Given the description of an element on the screen output the (x, y) to click on. 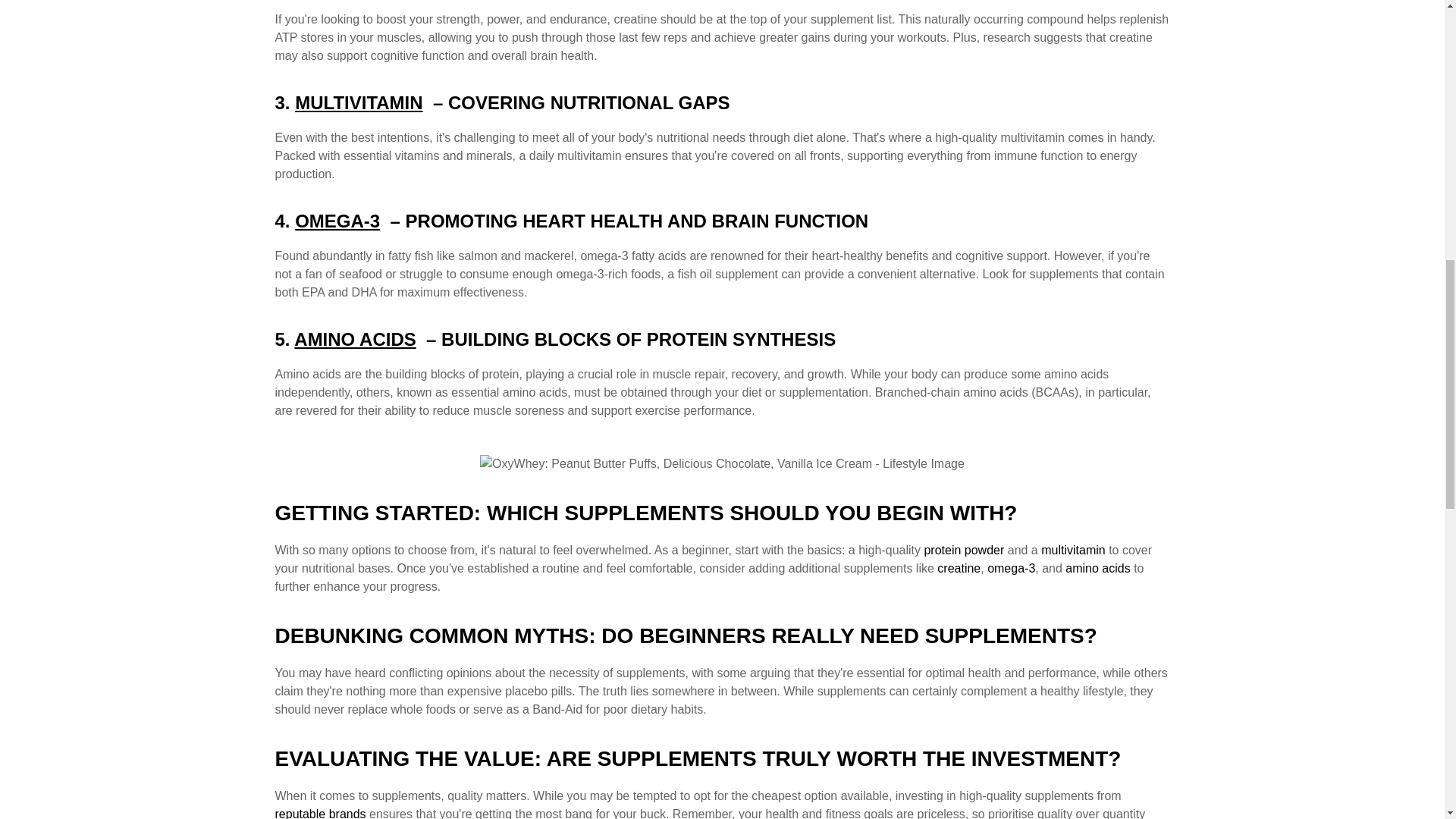
Multivitamin Supplements (1073, 549)
Creatine Supplements Collection (958, 567)
Omega-3 Supplements (1011, 567)
Protein Powder Collection (963, 549)
Amino Acids Collection (1097, 567)
Amino Acids Collection (354, 339)
Omega-3 Supplements (337, 220)
Multivitamin Supplements (358, 102)
